Given the description of an element on the screen output the (x, y) to click on. 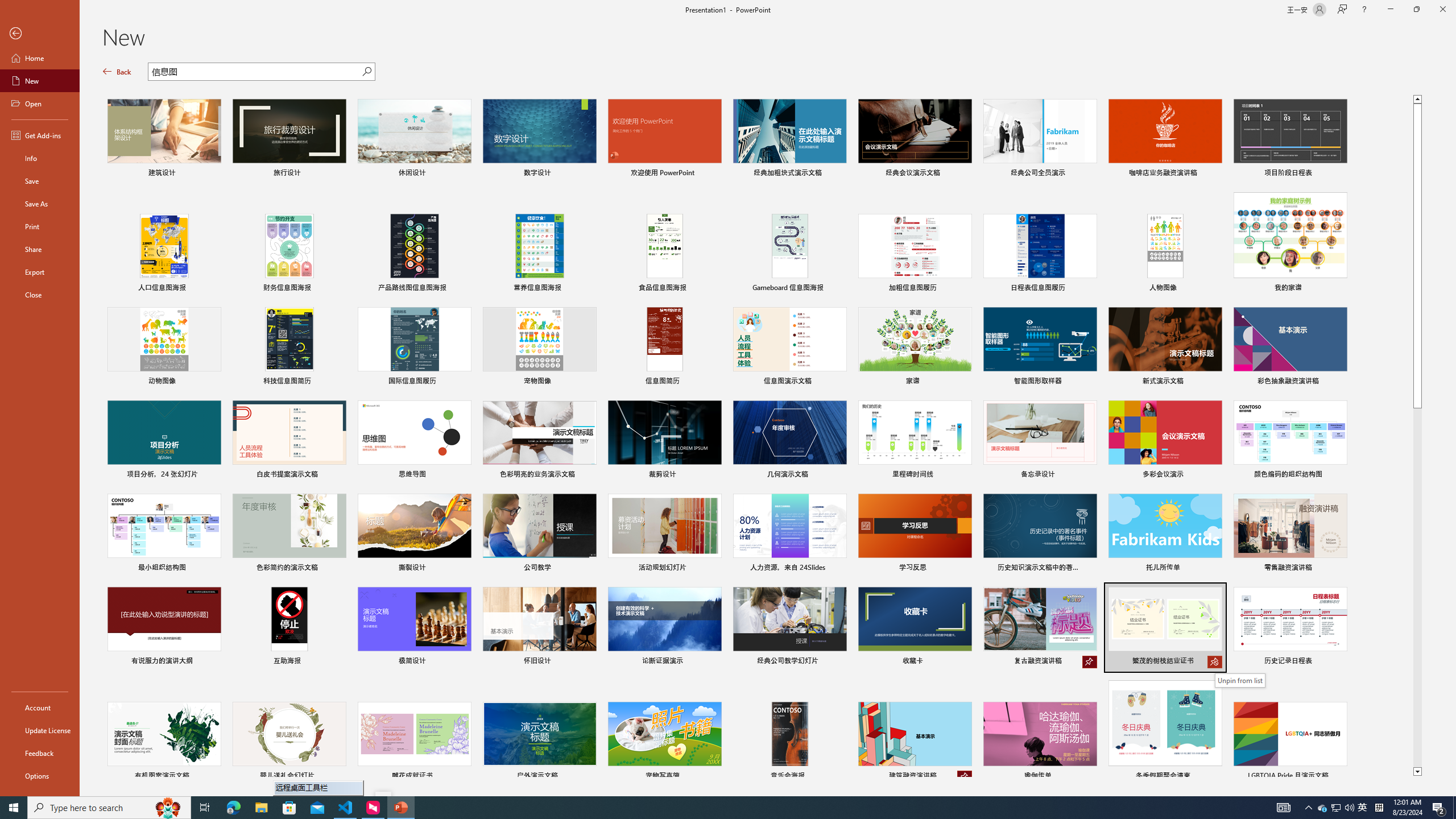
Unpin from list (964, 776)
Back (117, 71)
